Given the description of an element on the screen output the (x, y) to click on. 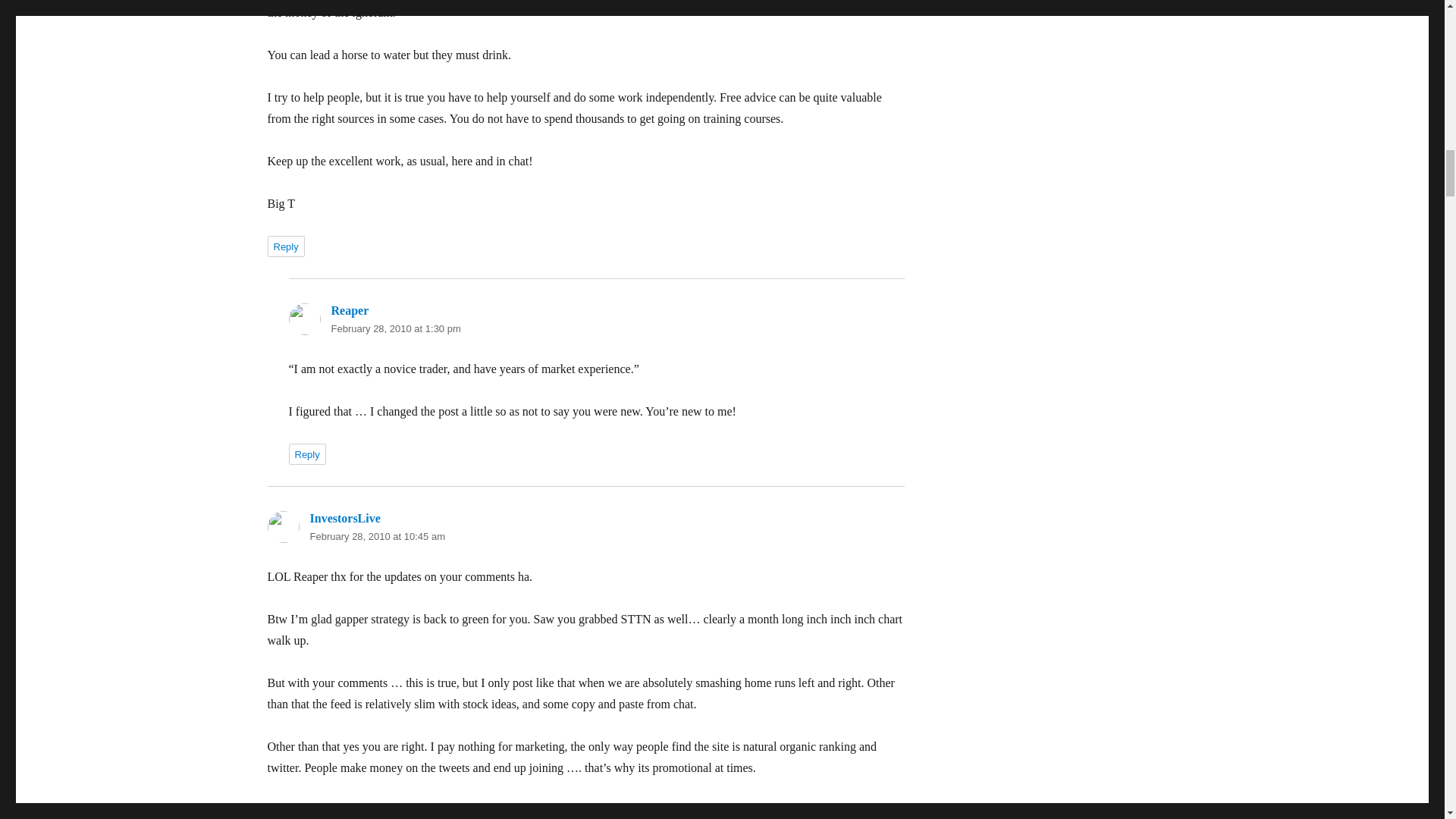
February 28, 2010 at 1:30 pm (395, 328)
Reaper (349, 309)
Reply (285, 246)
Reply (306, 454)
